Given the description of an element on the screen output the (x, y) to click on. 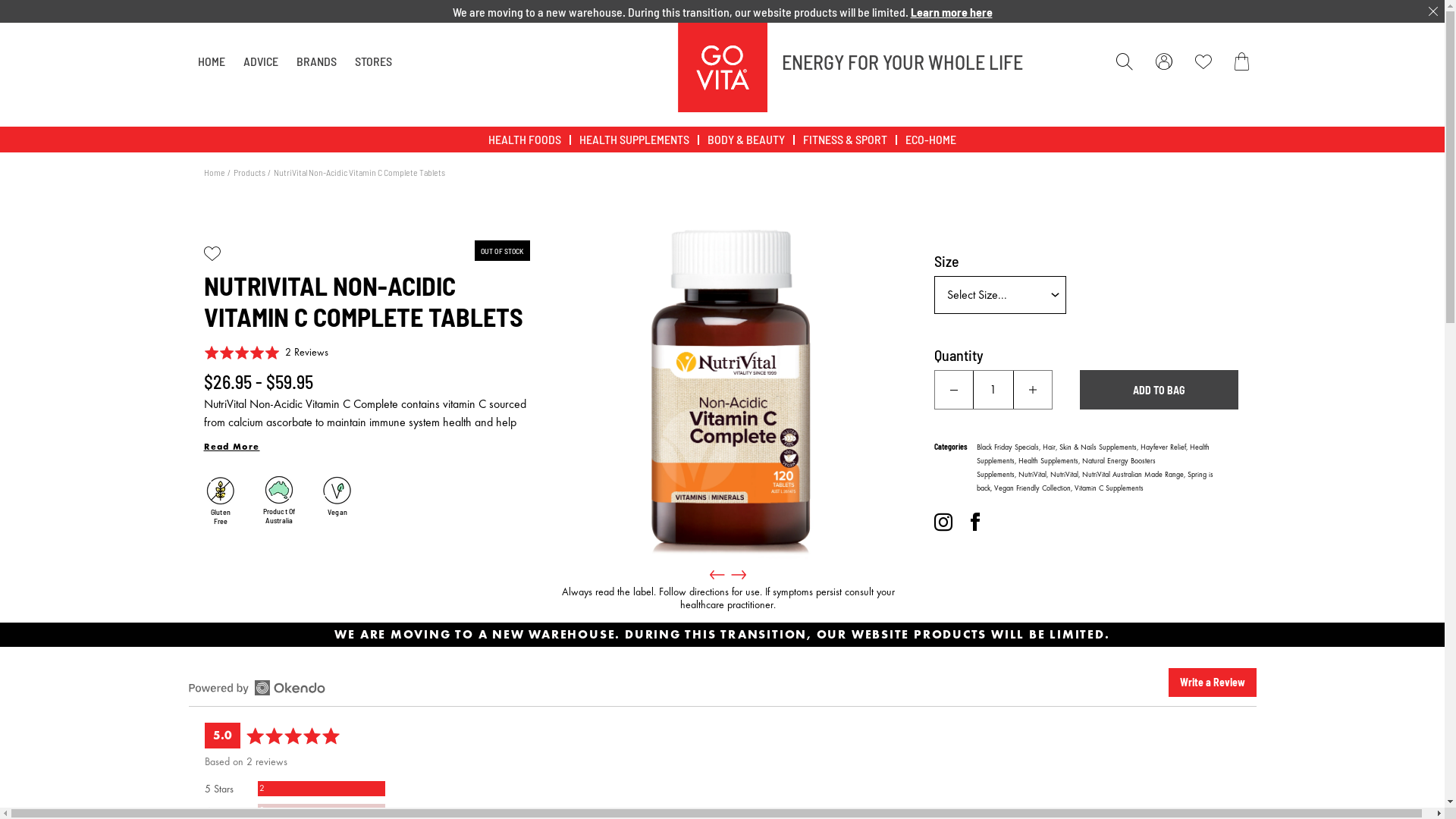
HEALTH SUPPLEMENTS Element type: text (634, 139)
STORES Element type: text (373, 61)
Read More Element type: text (231, 446)
Health Supplements,  Element type: text (1049, 460)
Spring is back,  Element type: text (1094, 481)
BRANDS Element type: text (315, 61)
Hayfever Relief,  Element type: text (1164, 446)
HEALTH FOODS Element type: text (524, 139)
Health Supplements,  Element type: text (1092, 453)
Write a Review Element type: text (1211, 682)
Vegan Friendly Collection,  Element type: text (1033, 487)
ADVICE Element type: text (259, 61)
Hair, Skin & Nails Supplements,  Element type: text (1090, 446)
NutriVital,  Element type: text (1033, 474)
BODY & BEAUTY Element type: text (745, 139)
Learn more here Element type: text (950, 11)
ADD TO BAG Element type: text (1158, 389)
NutriVital Australian Made Range,  Element type: text (1133, 474)
Vitamin C Supplements  Element type: text (1109, 487)
Home Element type: text (213, 171)
Facebook Element type: text (974, 522)
HOME Element type: text (210, 61)
Bag Element type: text (1245, 60)
Natural Energy Boosters Supplements,  Element type: text (1065, 467)
FITNESS & SPORT Element type: text (844, 139)
Black Friday Specials,  Element type: text (1009, 446)
Next Element type: text (738, 574)
NutriVital,  Element type: text (1065, 474)
Instagram Element type: text (943, 522)
ECO-HOME Element type: text (930, 139)
Products Element type: text (249, 171)
Previous Element type: text (716, 574)
Go Vita Element type: text (722, 67)
